Given the description of an element on the screen output the (x, y) to click on. 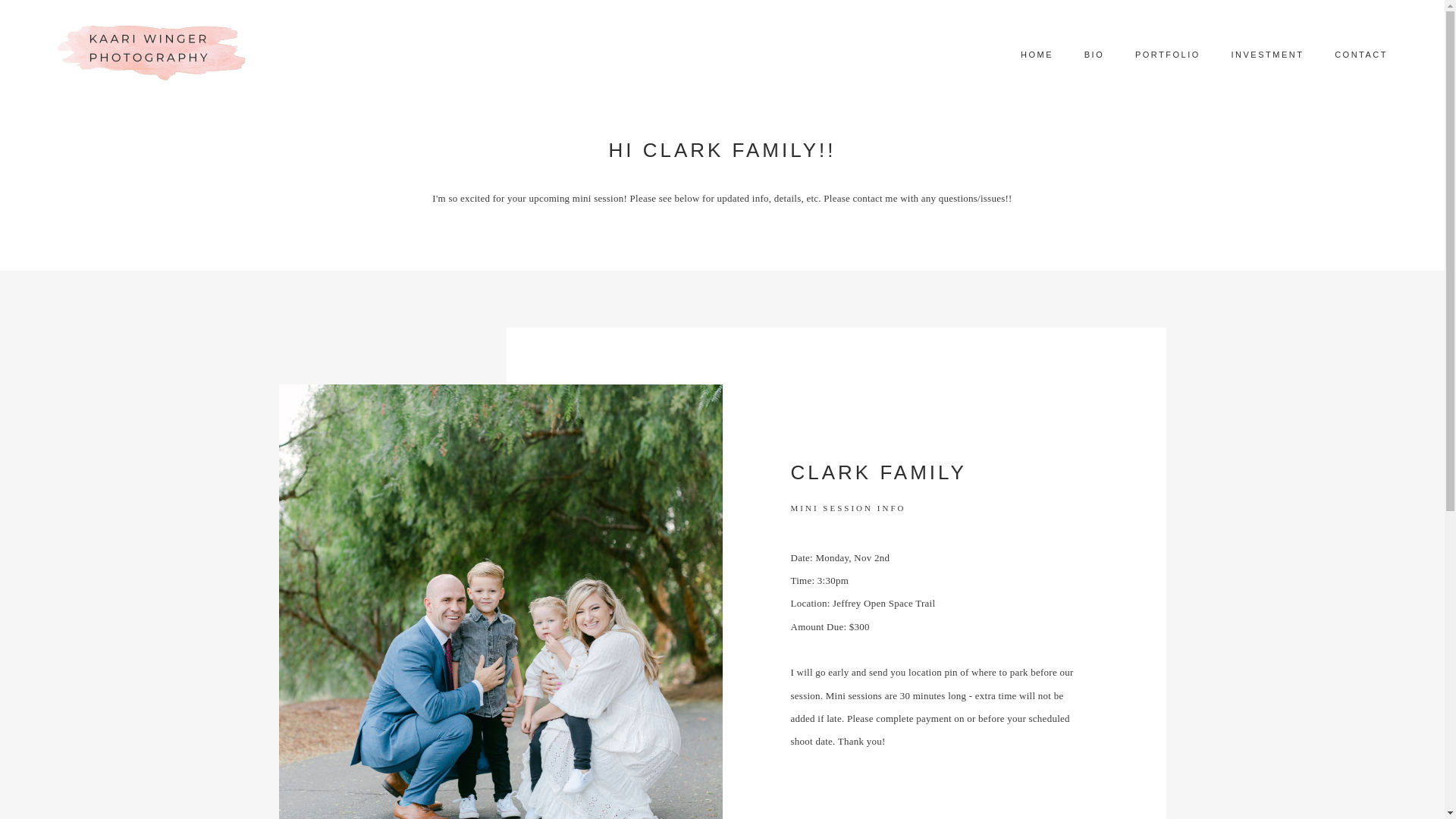
CONTACT (1361, 55)
INVESTMENT (1268, 55)
PORTFOLIO (1168, 55)
BIO (1093, 55)
HOME (1037, 55)
